Given the description of an element on the screen output the (x, y) to click on. 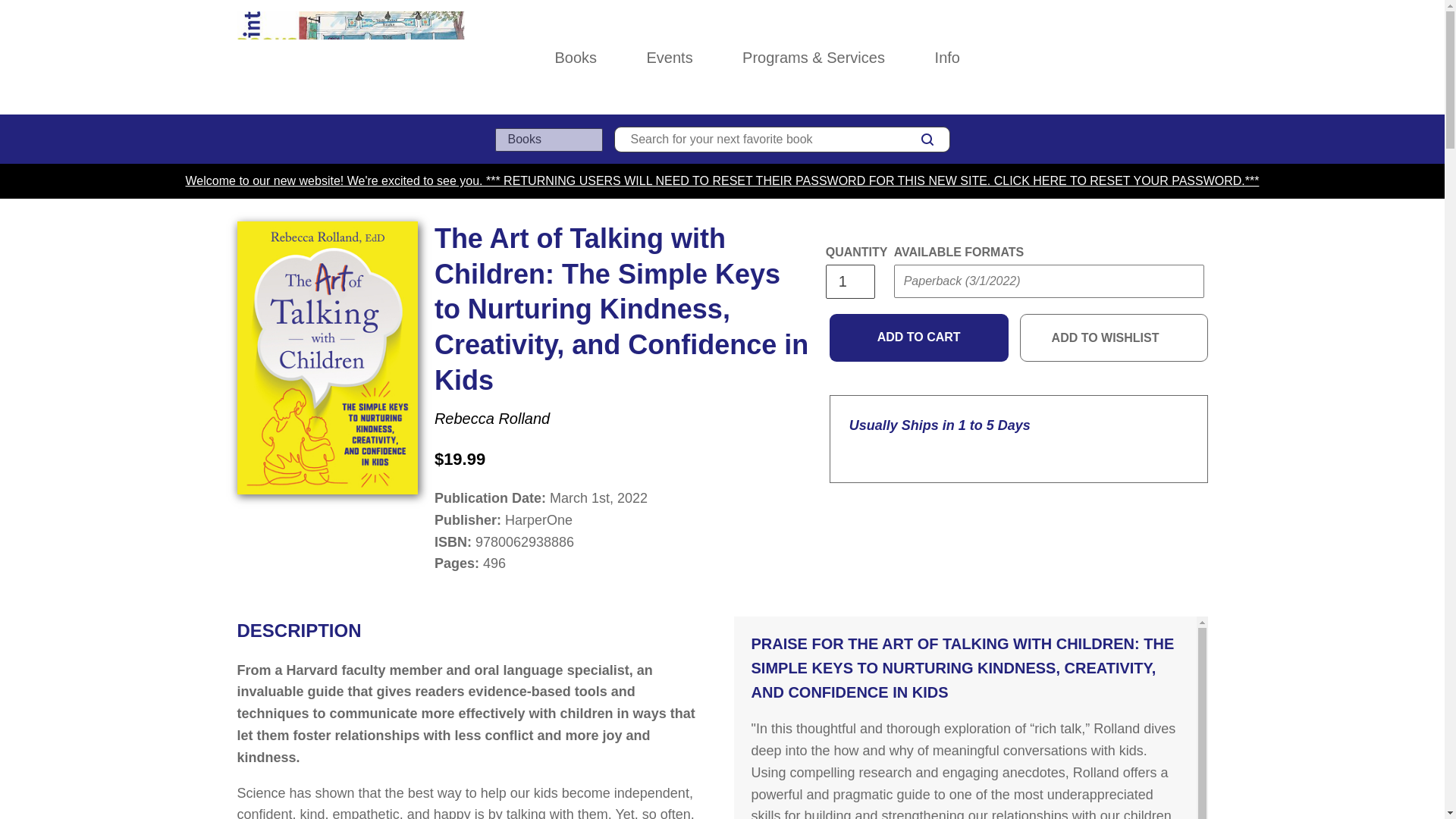
Log in (1134, 57)
ADD TO WISHLIST (1114, 337)
Add to cart (919, 337)
Add to cart (919, 337)
1 (850, 281)
SEARCH (926, 139)
Submit (922, 311)
Log in (1134, 57)
Wishlist (1168, 57)
